Given the description of an element on the screen output the (x, y) to click on. 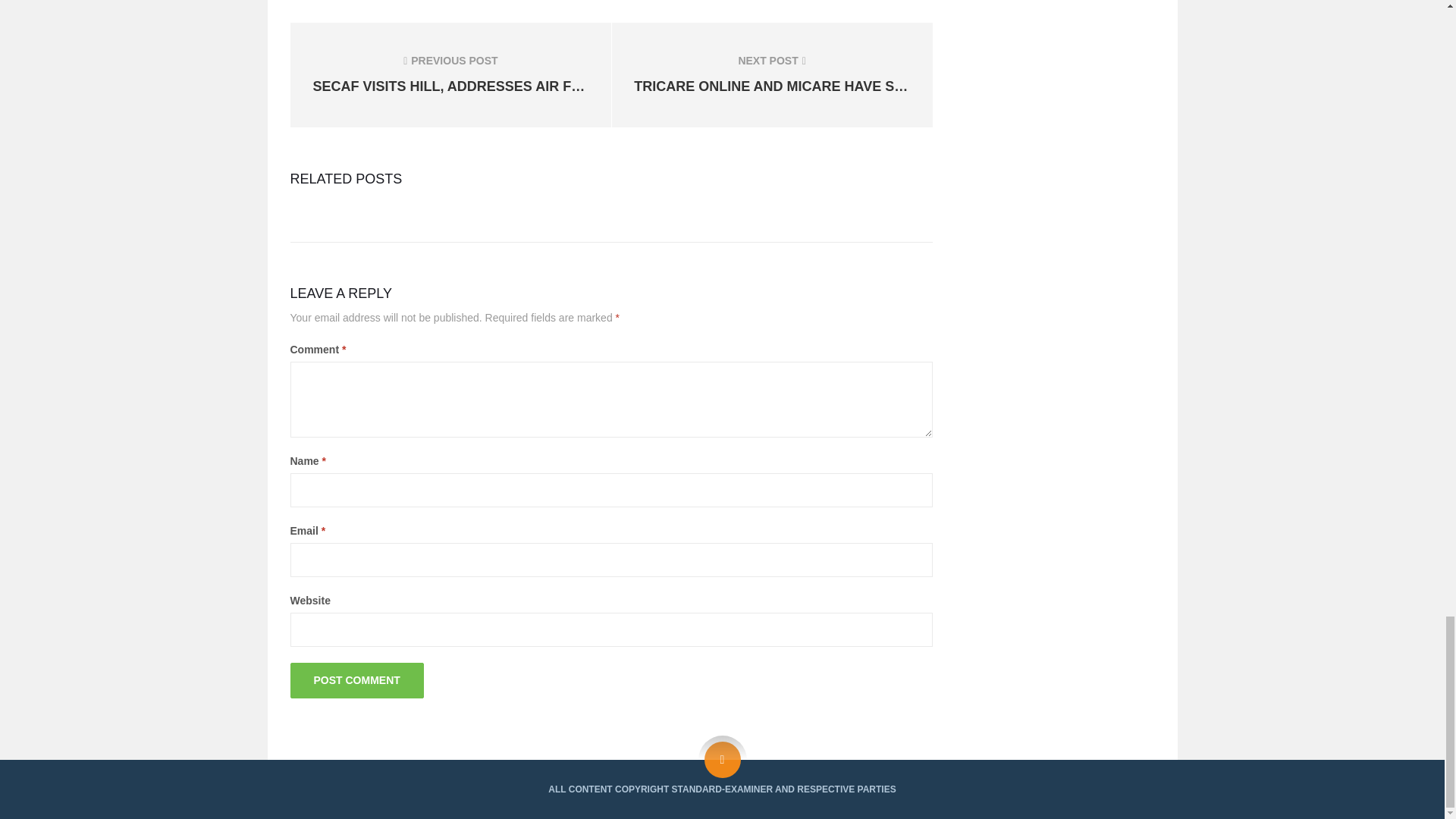
Post Comment (356, 680)
